Given the description of an element on the screen output the (x, y) to click on. 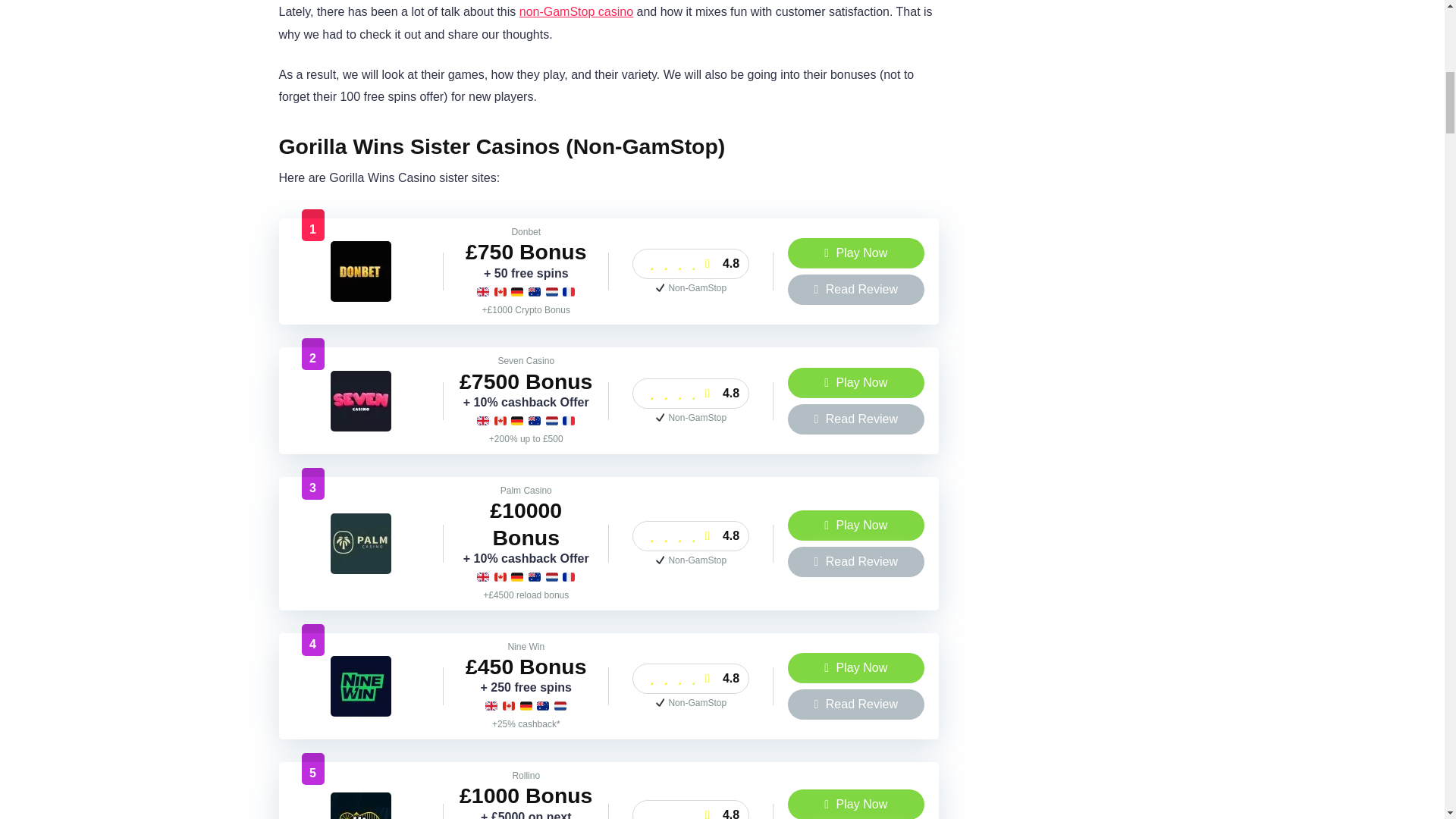
Read Review (855, 562)
Play Now (855, 382)
Play Now (855, 525)
Play Now (855, 667)
Read Review (855, 419)
Read Review (855, 289)
Play Now (855, 253)
